Given the description of an element on the screen output the (x, y) to click on. 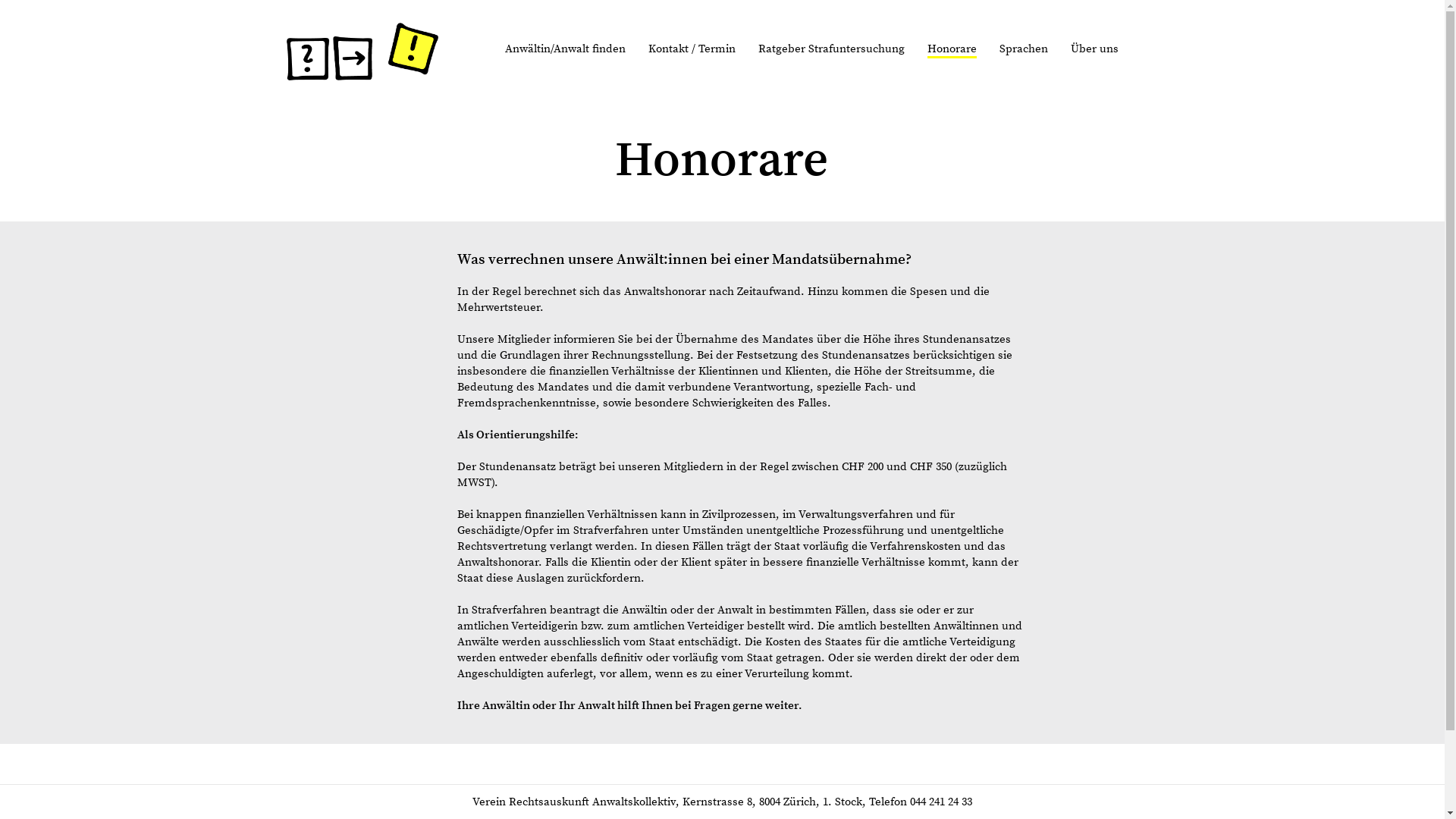
Ratgeber Strafuntersuchung Element type: text (830, 48)
Sprachen Element type: text (1022, 48)
Honorare Element type: text (951, 48)
Kontakt / Termin Element type: text (691, 48)
